Given the description of an element on the screen output the (x, y) to click on. 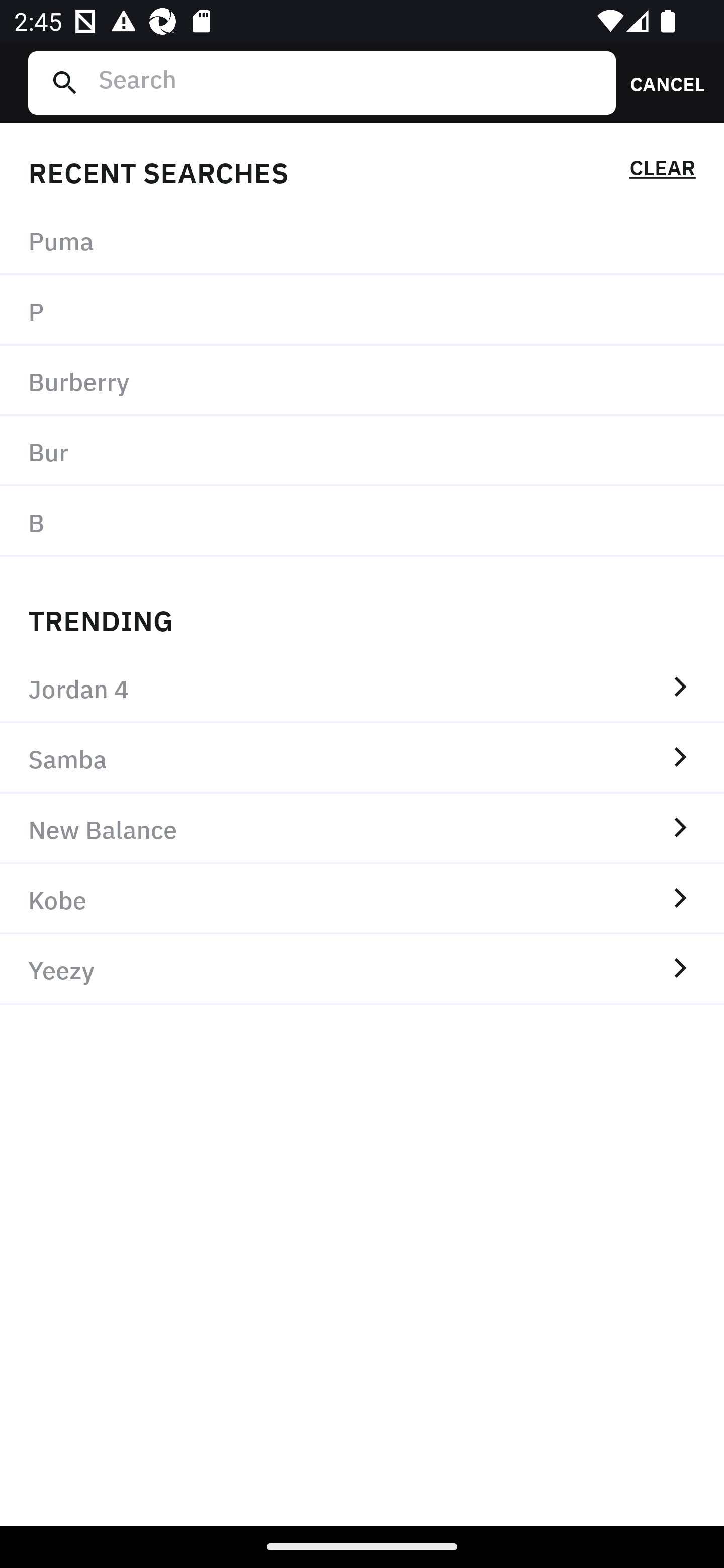
CANCEL (660, 82)
Search (349, 82)
CLEAR (662, 170)
Puma (362, 240)
P (362, 310)
Burberry (362, 380)
Bur (362, 450)
B (362, 521)
Jordan 4  (362, 687)
Samba  (362, 757)
New Balance  (362, 828)
Kobe  (362, 898)
Yeezy  (362, 969)
